Given the description of an element on the screen output the (x, y) to click on. 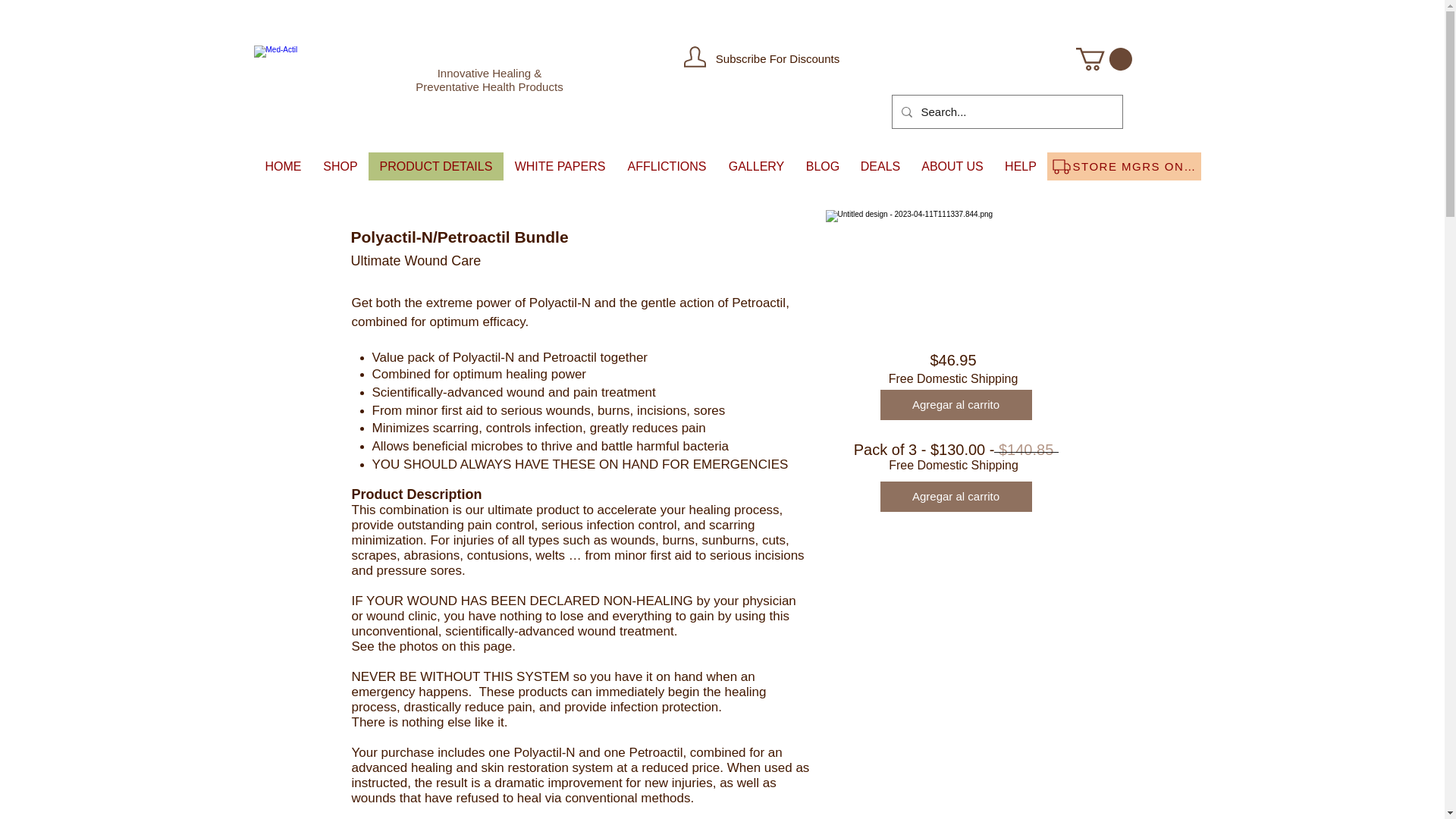
ABOUT US (951, 166)
AFFLICTIONS (665, 166)
GALLERY (755, 166)
BLOG (821, 166)
WHITE PAPERS (559, 166)
PRODUCT DETAILS (435, 166)
HOME (283, 166)
SHOP (340, 166)
DEALS (879, 166)
Subscribe For Discounts (777, 58)
